Given the description of an element on the screen output the (x, y) to click on. 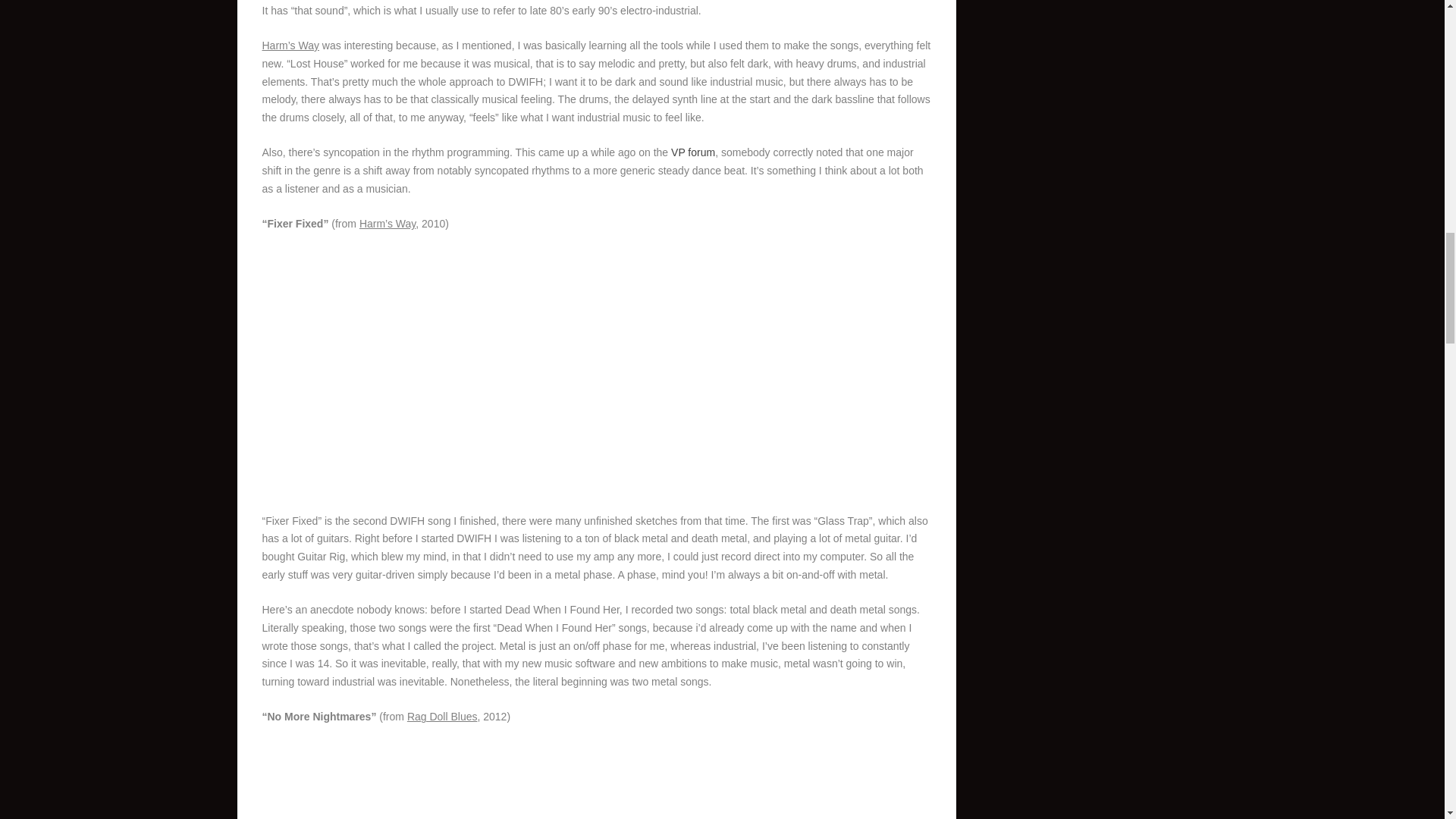
VP forum (692, 152)
